Given the description of an element on the screen output the (x, y) to click on. 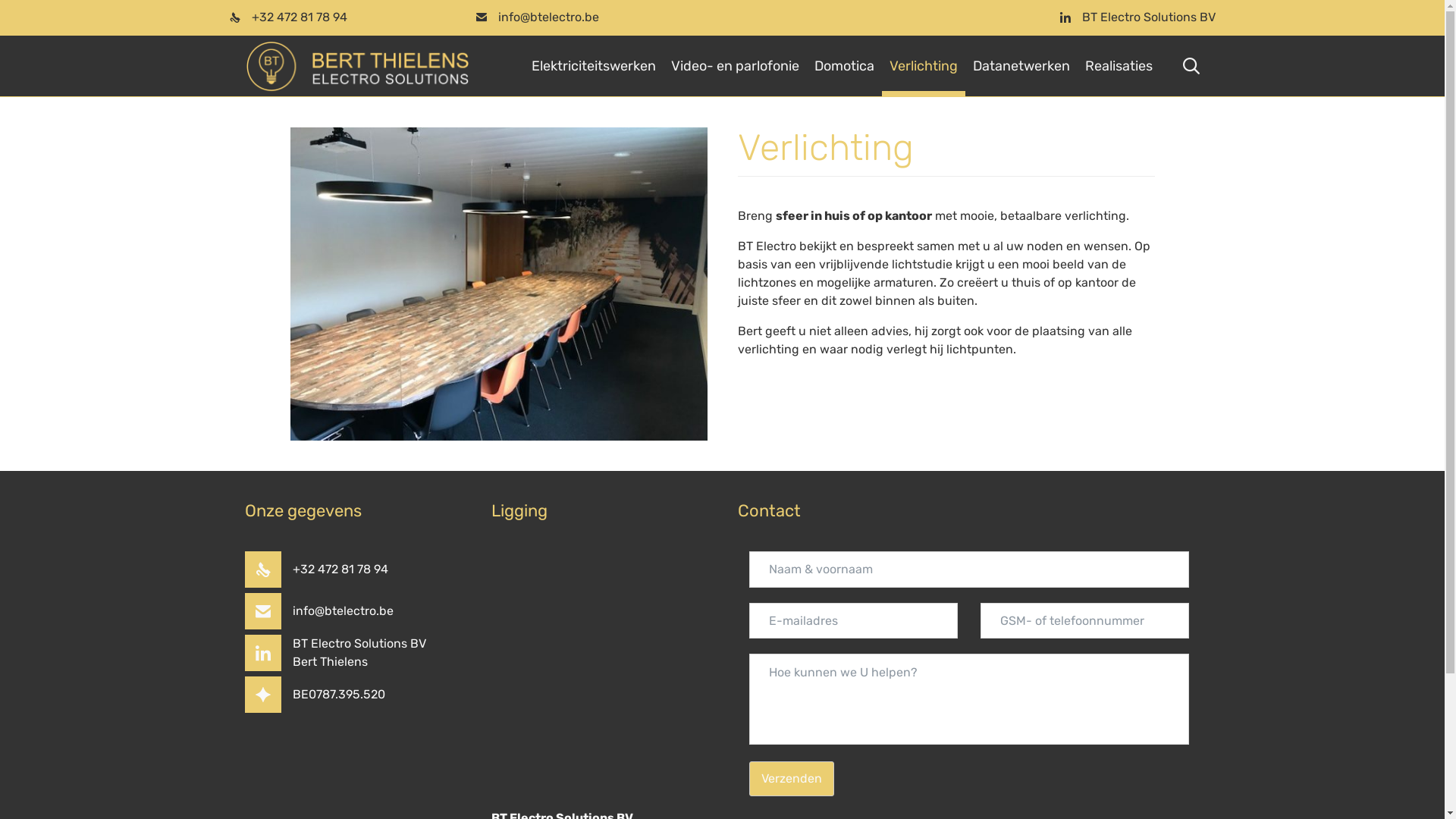
BT Electro Solutions Element type: hover (357, 65)
Verzenden Element type: text (791, 778)
+32 472 81 78 94 Element type: text (299, 17)
Video- en parlofonie Element type: text (734, 65)
BT Electro Solutions BV
Bert Thielens Element type: text (359, 652)
info@btelectro.be Element type: text (547, 17)
Datanetwerken Element type: text (1021, 65)
info@btelectro.be Element type: text (342, 610)
BT Electro Solutions BV Element type: text (1147, 17)
verlichting Element type: hover (497, 283)
Elektriciteitswerken Element type: text (593, 65)
Realisaties Element type: text (1118, 65)
Domotica Element type: text (843, 65)
+32 472 81 78 94 Element type: text (340, 569)
Verlichting Element type: text (923, 65)
Skip to content Element type: text (1159, 36)
